Given the description of an element on the screen output the (x, y) to click on. 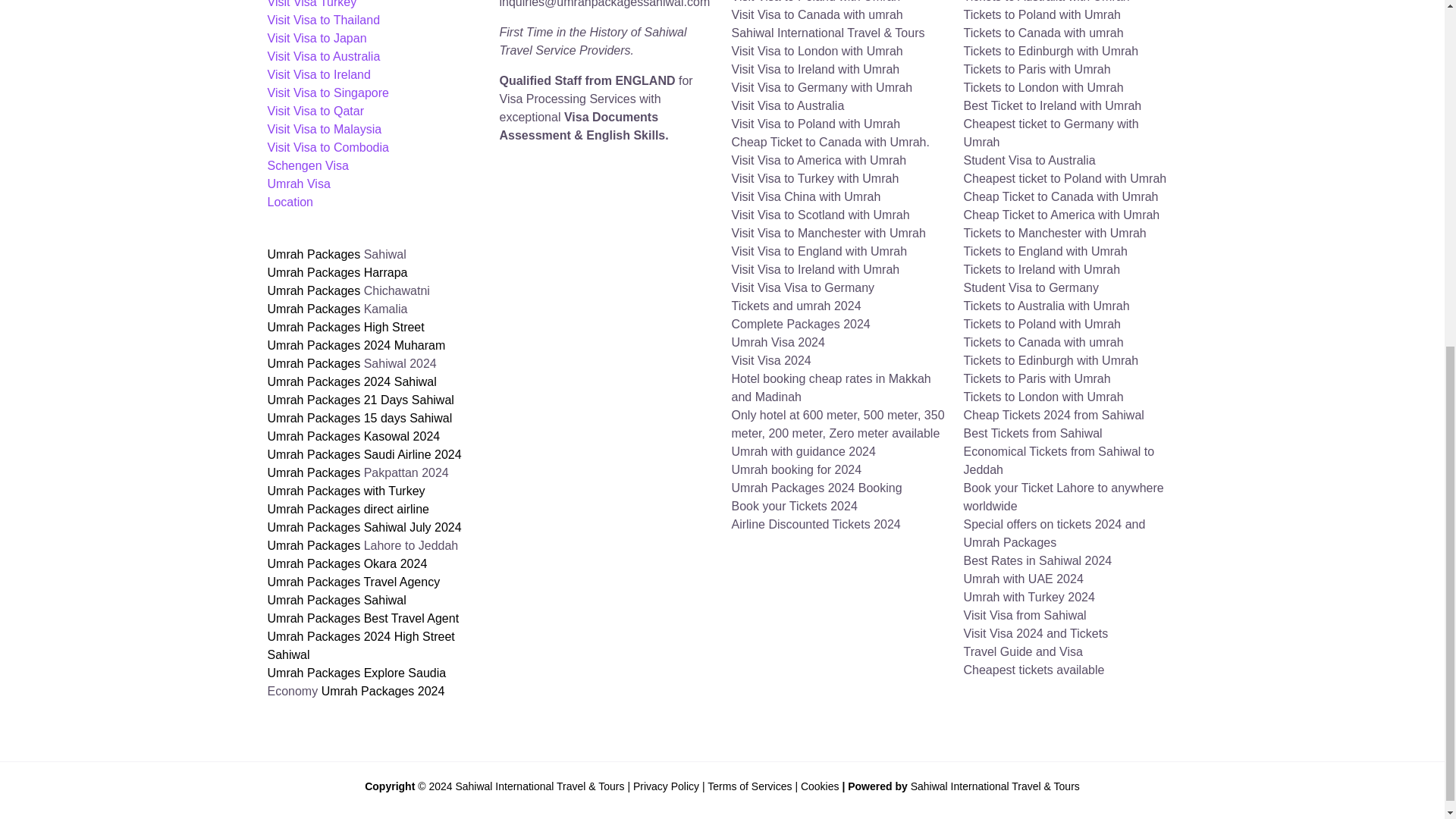
Visit Visa to Thailand (323, 19)
Visit Visa to Australia (323, 56)
Umrah Packages (314, 308)
Umrah Visa (298, 183)
Umrah Packages (314, 290)
Visit Visa to Qatar (314, 110)
Visit Visa Turkey (311, 4)
Visit Visa to Singapore (327, 92)
Visit Visa to Combodia (327, 146)
Visit Visa to Japan (316, 38)
